Given the description of an element on the screen output the (x, y) to click on. 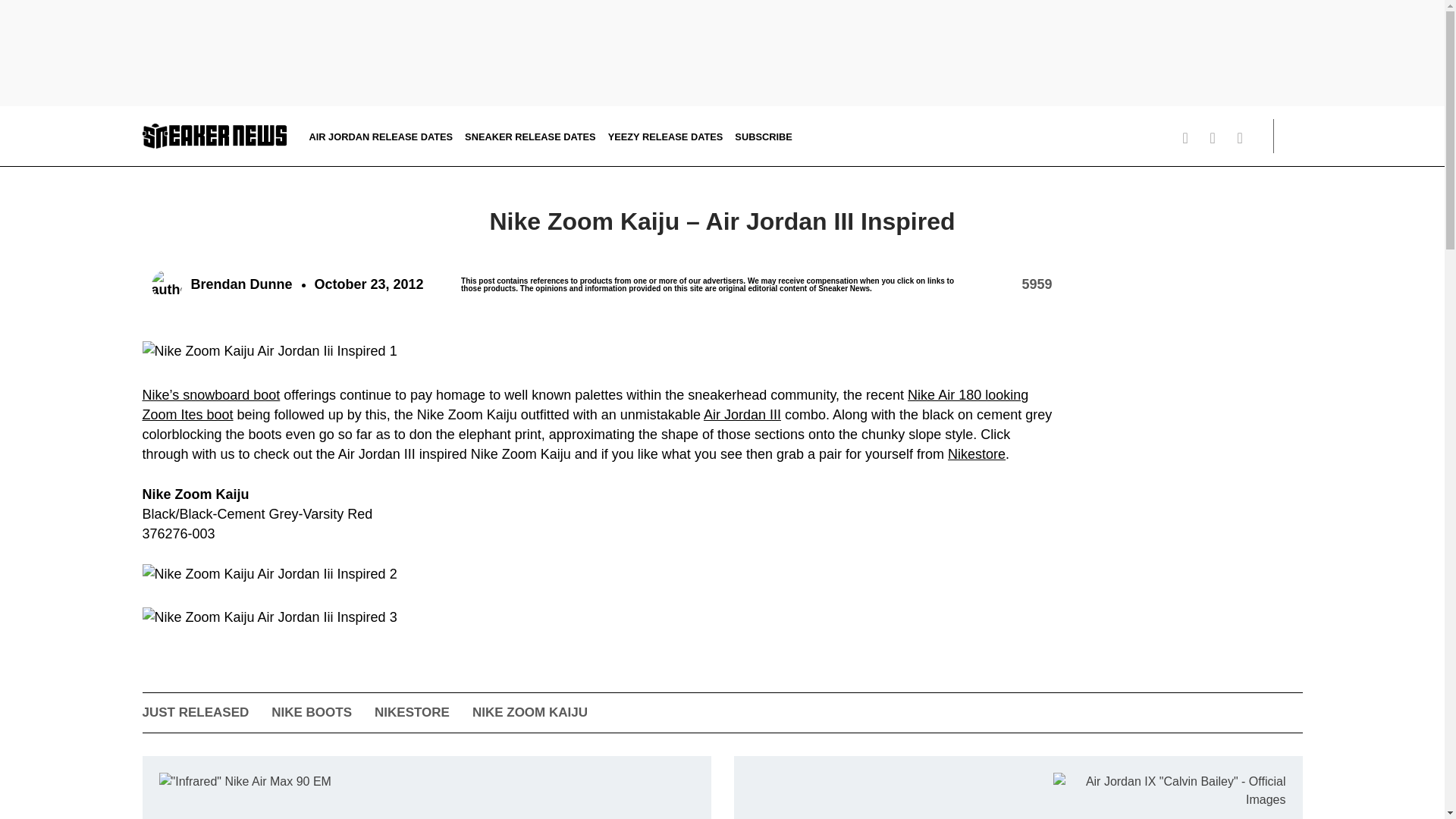
NIKE ZOOM KAIJU (529, 712)
SUBSCRIBE (763, 135)
nike-zoom-kaiju-air-jordan-iii-inspired-1 (269, 351)
Air Jordan III (741, 414)
Nike Air 180 looking Zoom Ites boot (585, 404)
Discord (1163, 137)
Brendan Dunne (221, 285)
Nikestore (976, 453)
Twitter (1190, 137)
NIKESTORE (411, 712)
nike-zoom-kaiju-air-jordan-iii-inspired-2 (269, 573)
Search (1292, 136)
SNEAKER RELEASE DATES (529, 135)
AIR JORDAN RELEASE DATES (380, 135)
NIKE BOOTS (311, 712)
